Given the description of an element on the screen output the (x, y) to click on. 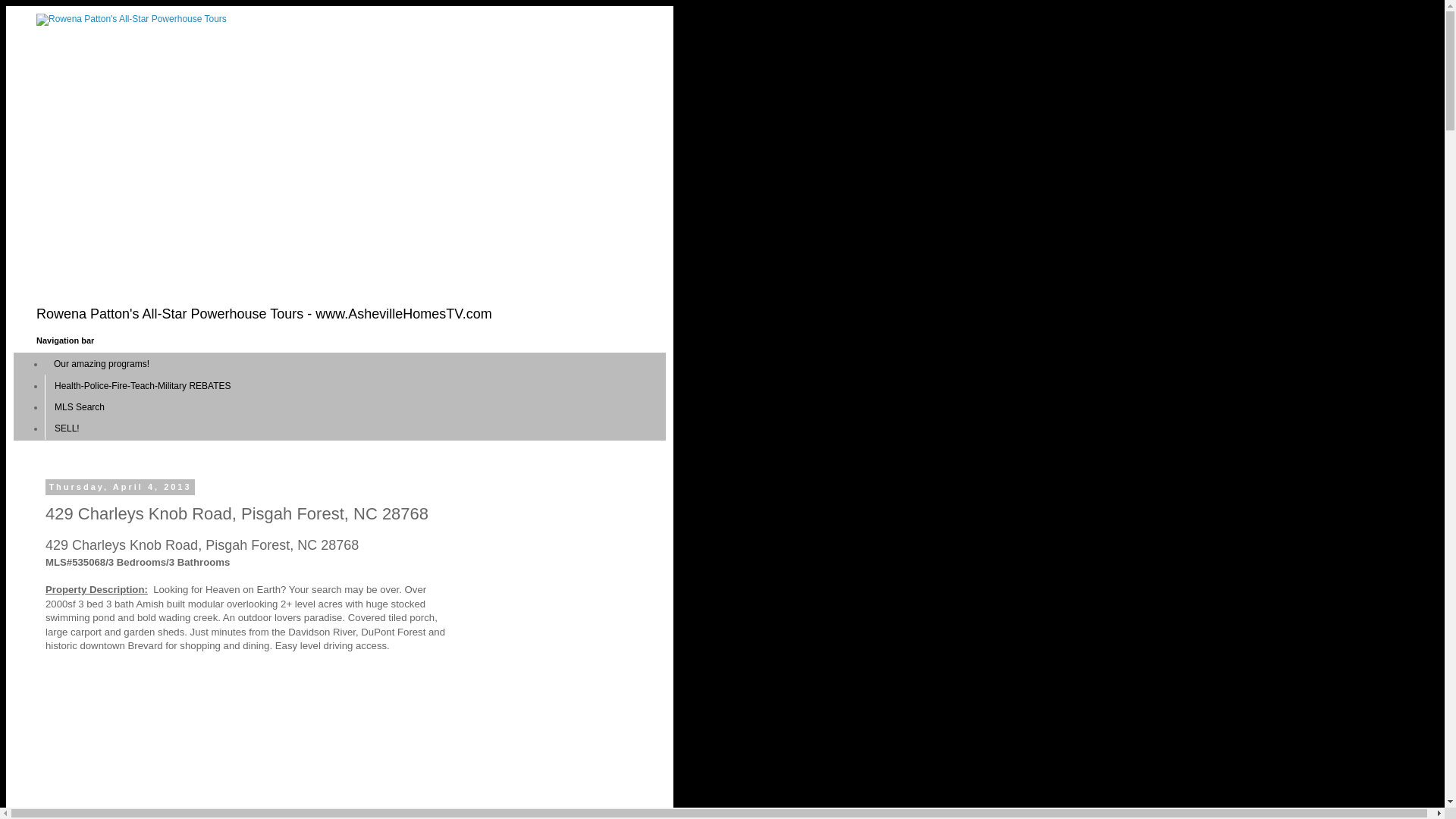
Health-Police-Fire-Teach-Military REBATES (143, 384)
Our amazing programs! (101, 363)
MLS Search (80, 406)
SELL! (66, 427)
